Given the description of an element on the screen output the (x, y) to click on. 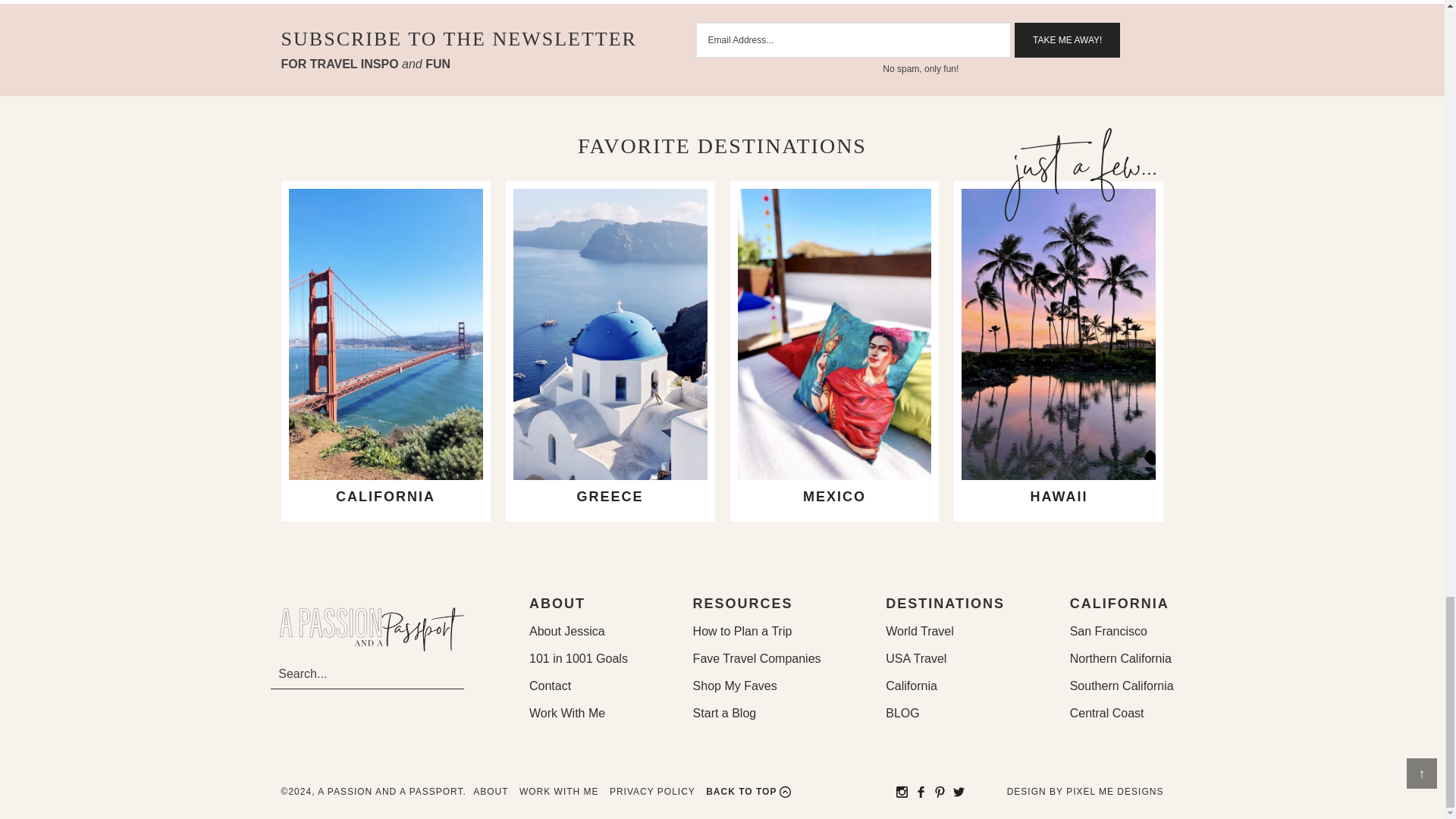
Take Me Away! (1066, 39)
